Given the description of an element on the screen output the (x, y) to click on. 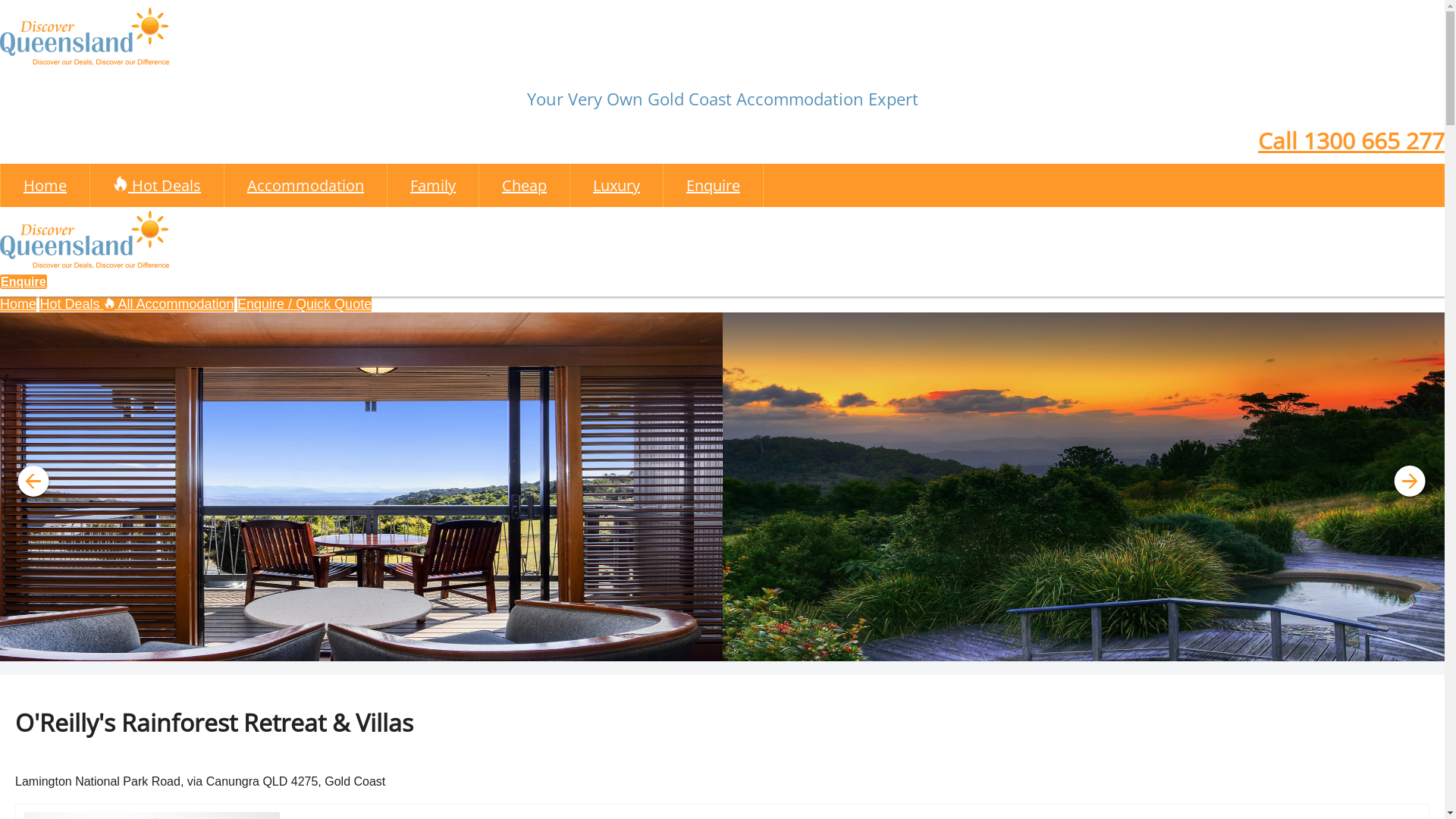
Family Element type: text (433, 185)
Enquire Element type: text (23, 281)
12 Element type: text (824, 653)
4 Element type: text (642, 653)
Home Element type: text (18, 303)
Accommodation Element type: text (305, 185)
Call 1300 665 277 Element type: text (1351, 140)
10 Element type: text (779, 653)
14 Element type: text (870, 653)
6 Element type: text (688, 653)
Home Element type: text (45, 185)
Hot Deals Element type: text (157, 185)
All Accommodation Element type: text (176, 303)
Cheap Element type: text (524, 185)
Enquire Element type: text (713, 185)
Hot Deals Element type: text (78, 303)
1 Element type: text (574, 653)
8 Element type: text (733, 653)
11 Element type: text (801, 653)
7 Element type: text (710, 653)
2 Element type: text (597, 653)
5 Element type: text (665, 653)
Luxury Element type: text (616, 185)
13 Element type: text (847, 653)
9 Element type: text (756, 653)
3 Element type: text (619, 653)
Enquire / Quick Quote Element type: text (304, 303)
